Given the description of an element on the screen output the (x, y) to click on. 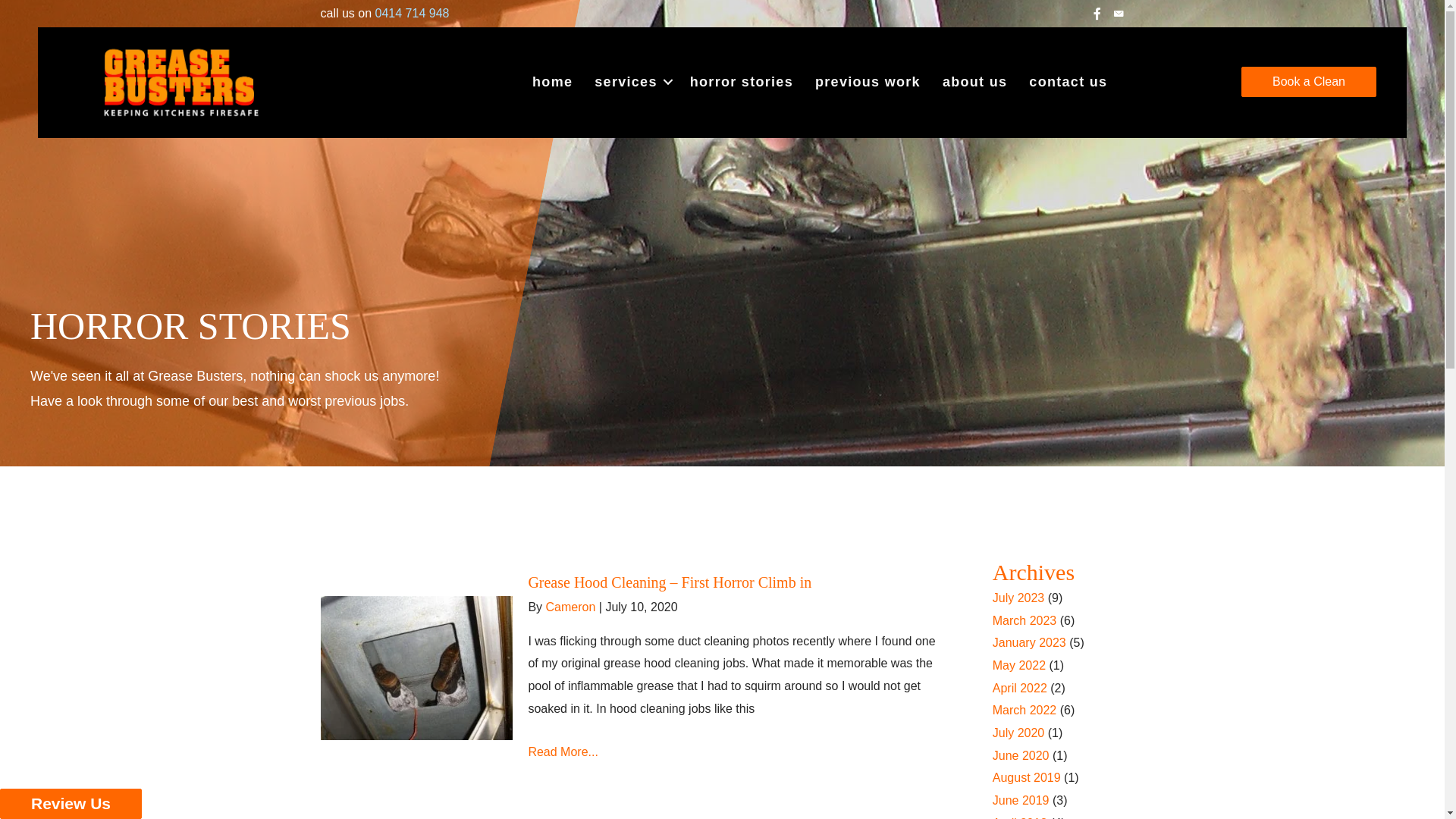
services Element type: text (630, 82)
March 2022 Element type: text (1024, 709)
about us Element type: text (974, 82)
Book a Clean Element type: text (1308, 81)
contact us Element type: text (1067, 82)
June 2019 Element type: text (1020, 799)
January 2023 Element type: text (1029, 642)
March 2023 Element type: text (1024, 620)
previous work Element type: text (867, 82)
Read More... Element type: text (562, 751)
logo-600-transparent Element type: hover (179, 81)
April 2022 Element type: text (1019, 687)
July 2023 Element type: text (1018, 597)
home Element type: text (552, 82)
July 2020 Element type: text (1018, 732)
Cameron Element type: text (571, 606)
horror stories Element type: text (741, 82)
0414 714 948 Element type: text (412, 12)
June 2020 Element type: text (1020, 755)
May 2022 Element type: text (1018, 664)
August 2019 Element type: text (1026, 777)
